Given the description of an element on the screen output the (x, y) to click on. 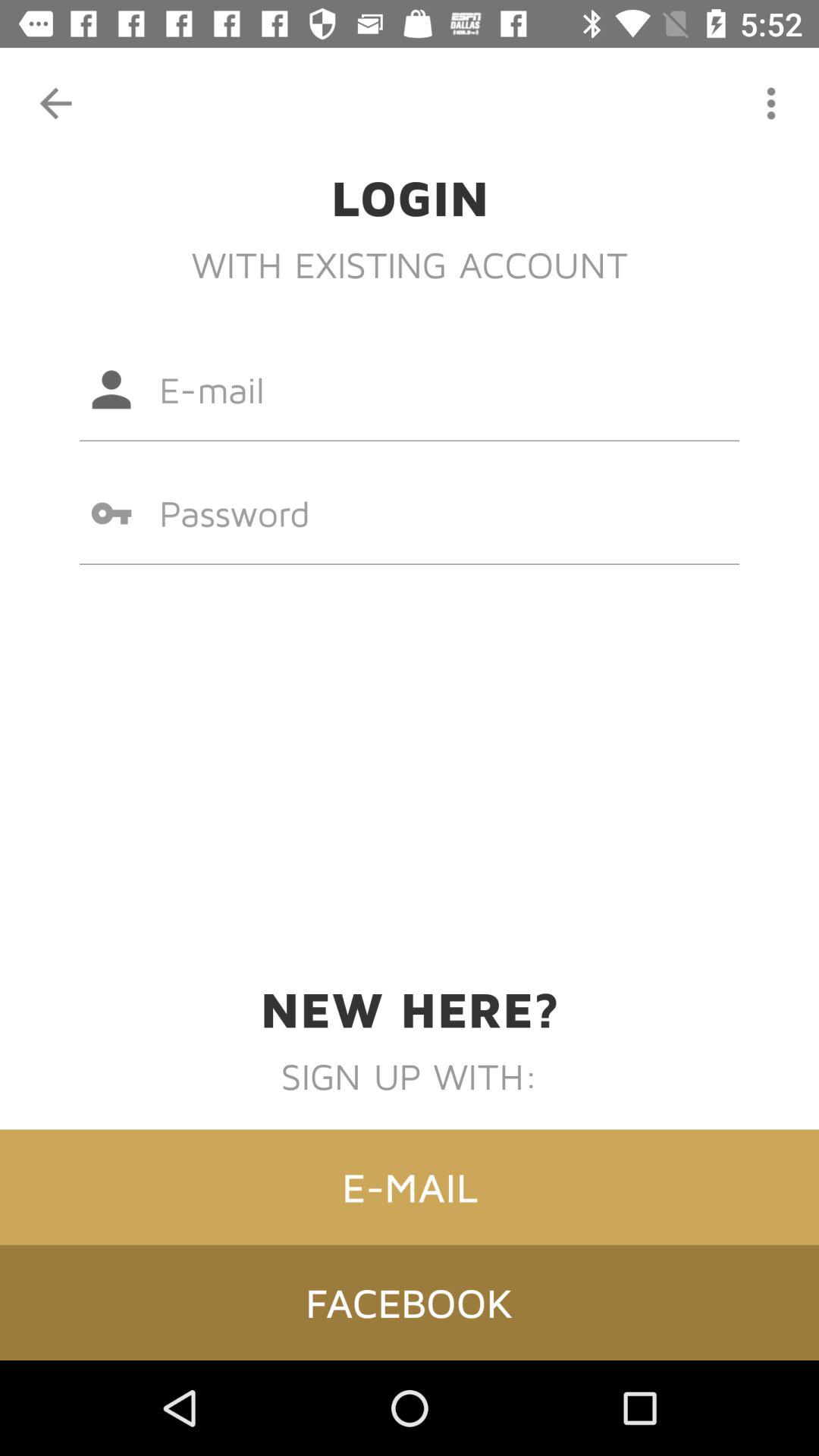
select the icon at the top right corner (771, 103)
